Given the description of an element on the screen output the (x, y) to click on. 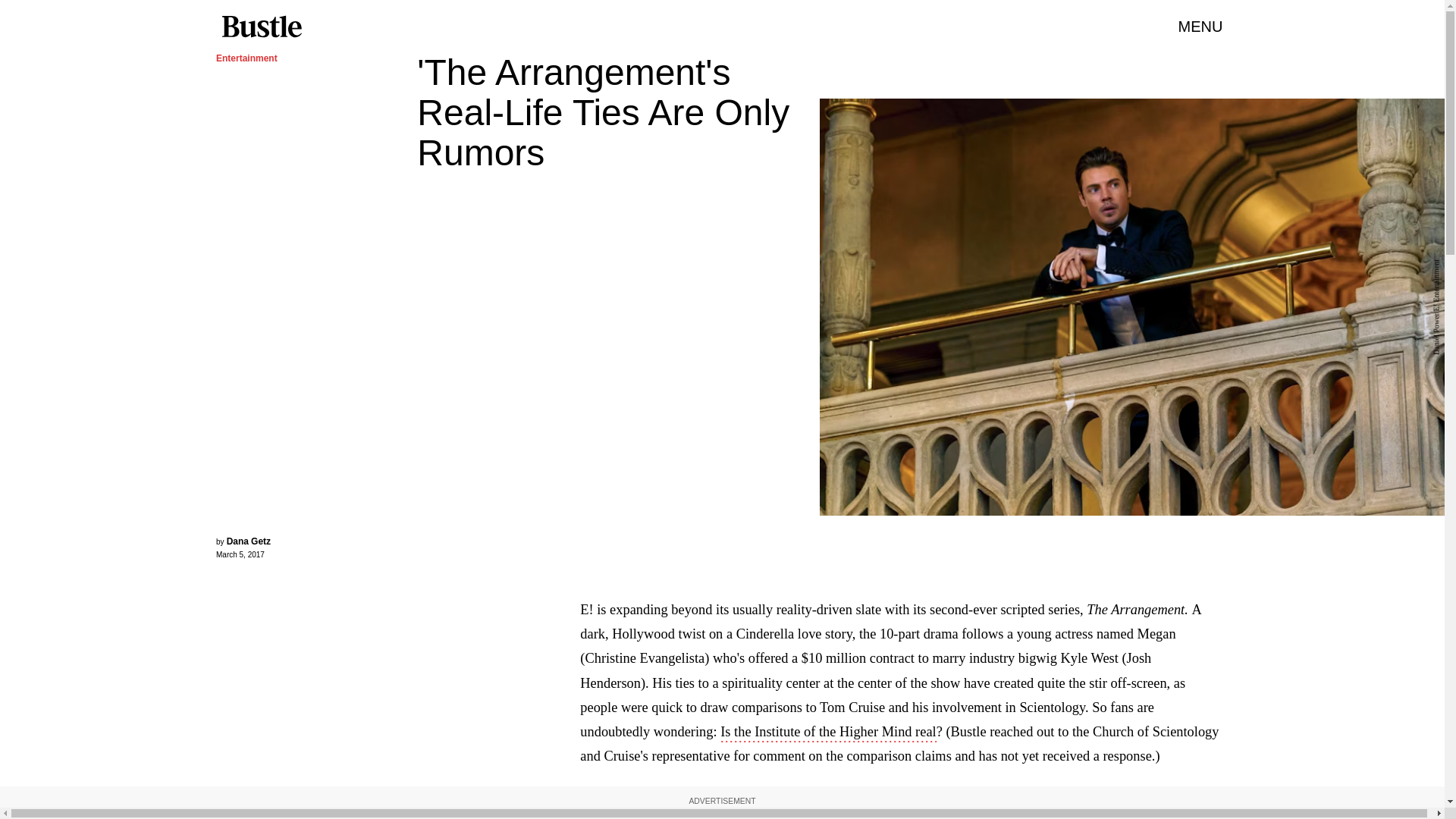
Dana Getz (248, 541)
Bustle (261, 26)
Is the Institute of the Higher Mind real (828, 732)
